Given the description of an element on the screen output the (x, y) to click on. 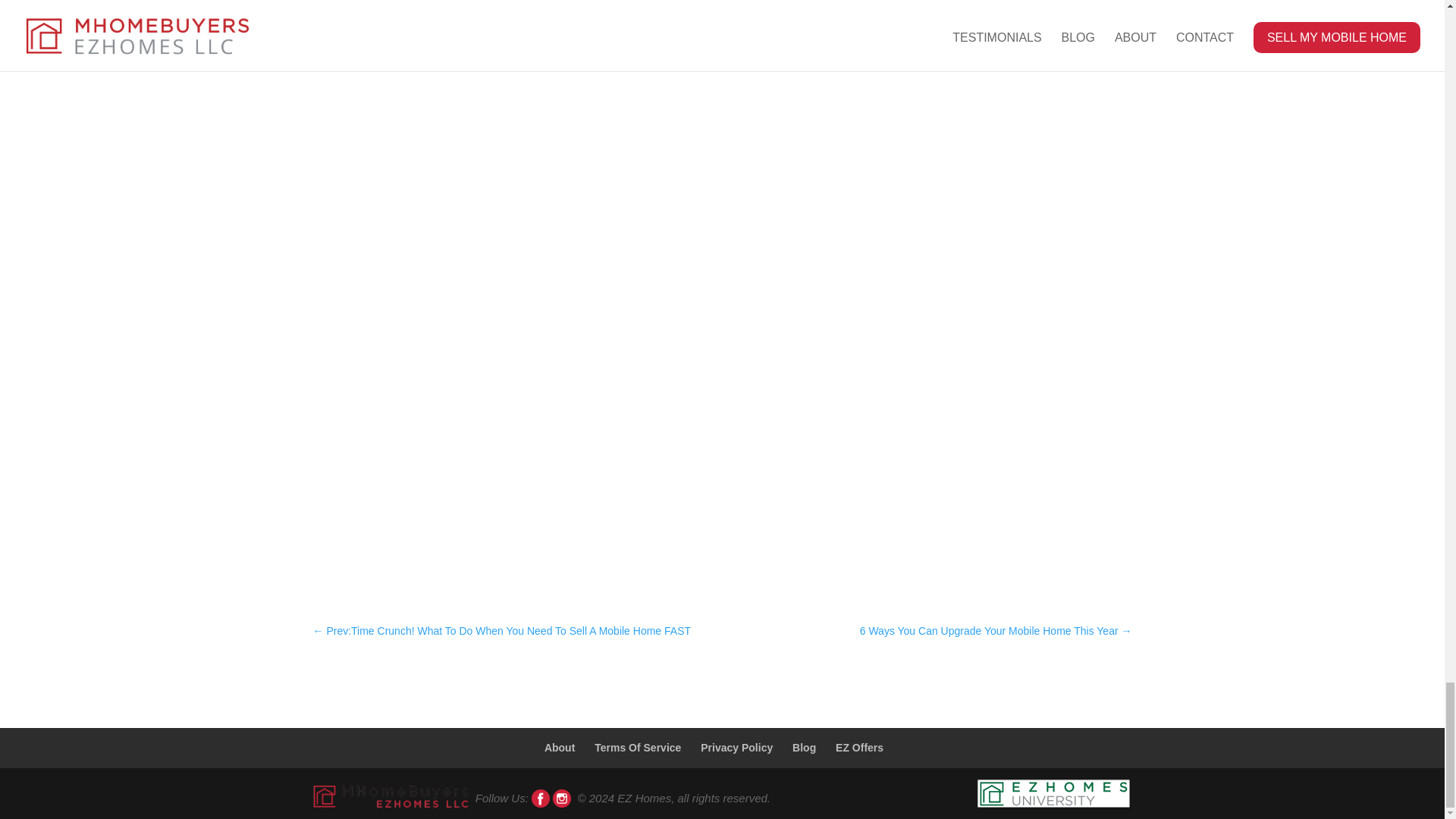
EZ Offers (859, 747)
EZ Homes (390, 795)
EZ Homes University (1053, 794)
Privacy Policy (736, 747)
Blog (803, 747)
About (559, 747)
Terms Of Service (637, 747)
